Given the description of an element on the screen output the (x, y) to click on. 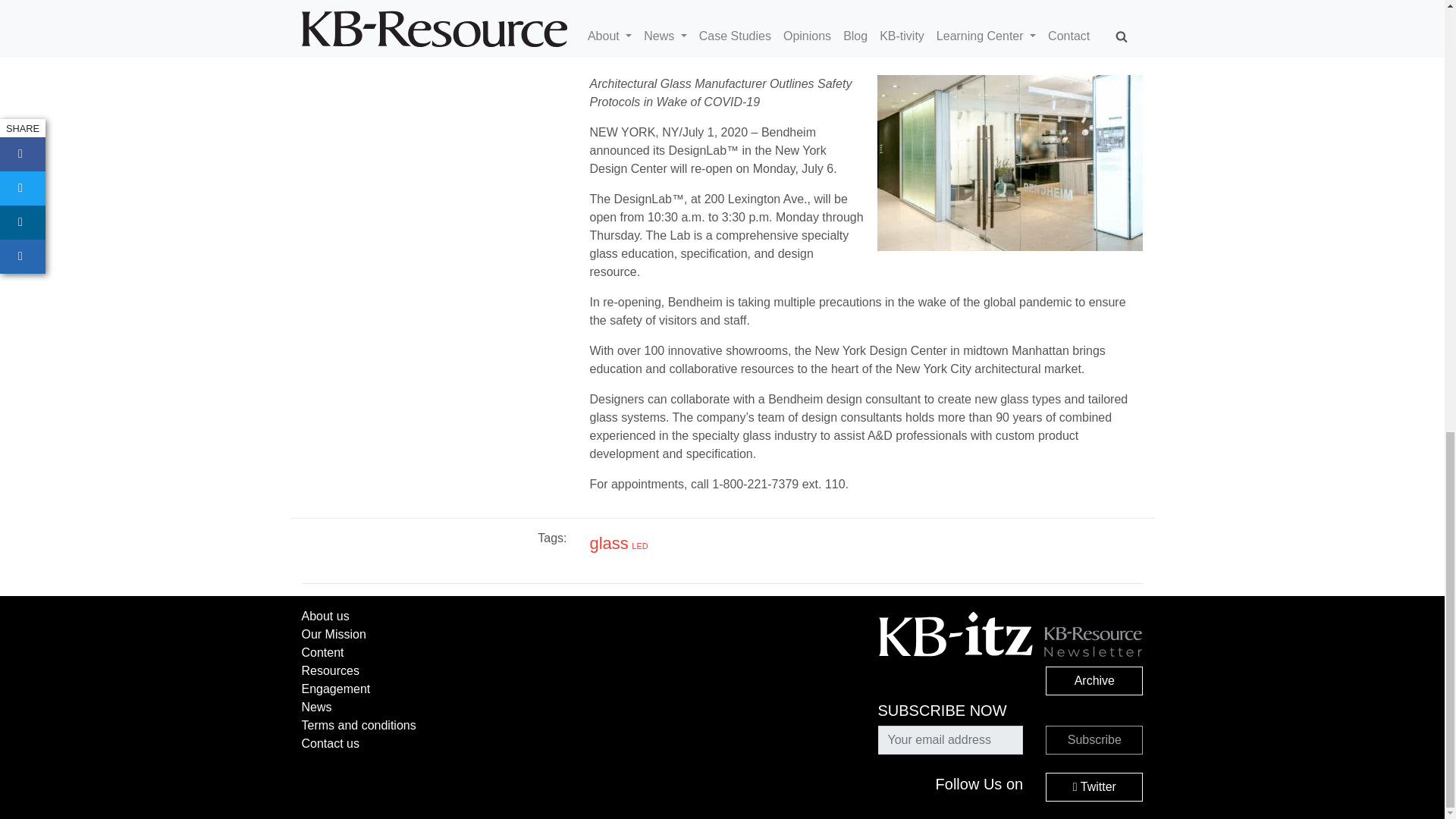
Subscribe (1093, 739)
Content (322, 652)
LED (639, 545)
Resources (330, 670)
Our Mission (333, 634)
About us (325, 615)
glass (608, 542)
